Given the description of an element on the screen output the (x, y) to click on. 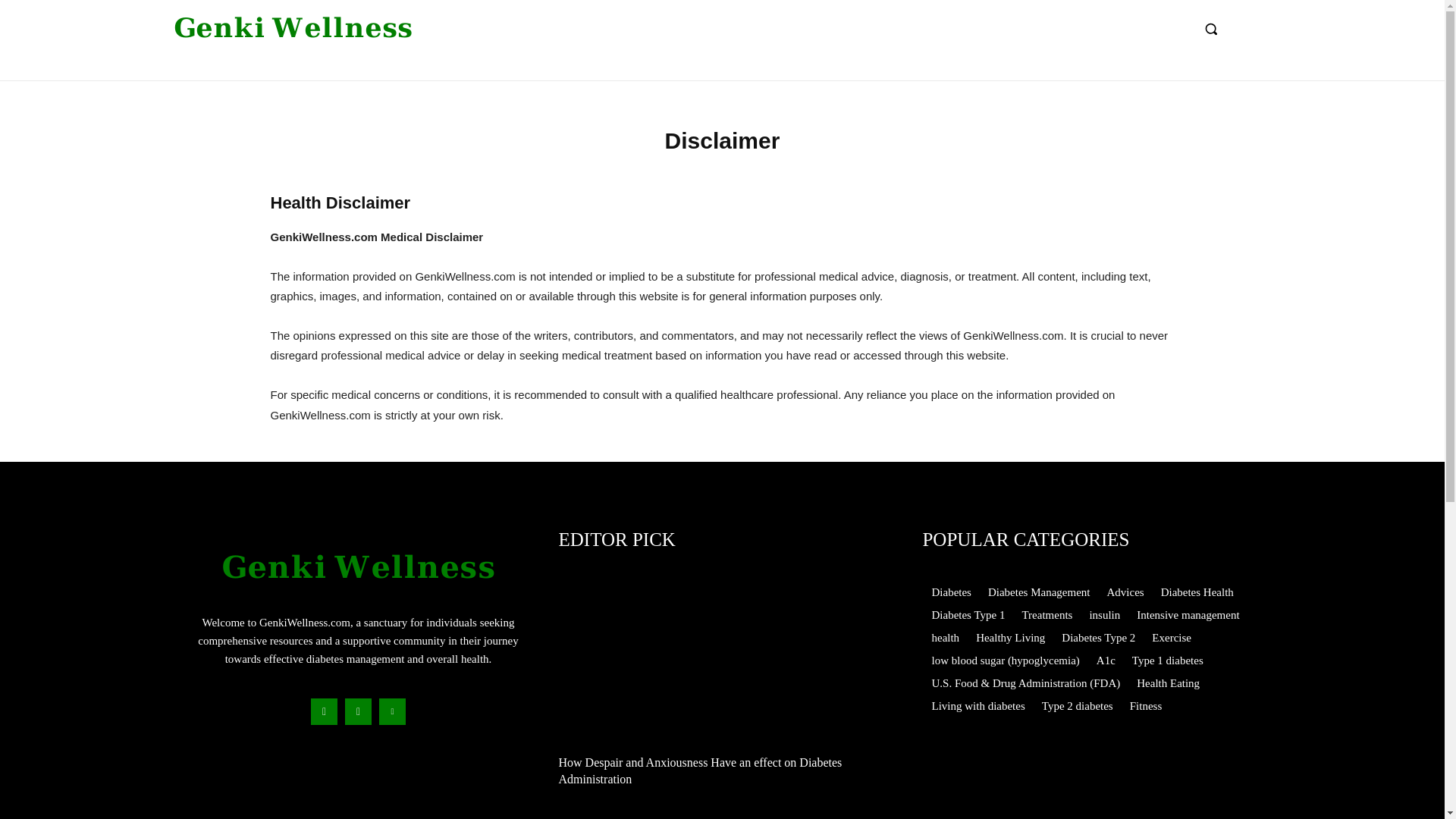
Instagram (358, 711)
Facebook (324, 711)
Twitter (392, 711)
